Given the description of an element on the screen output the (x, y) to click on. 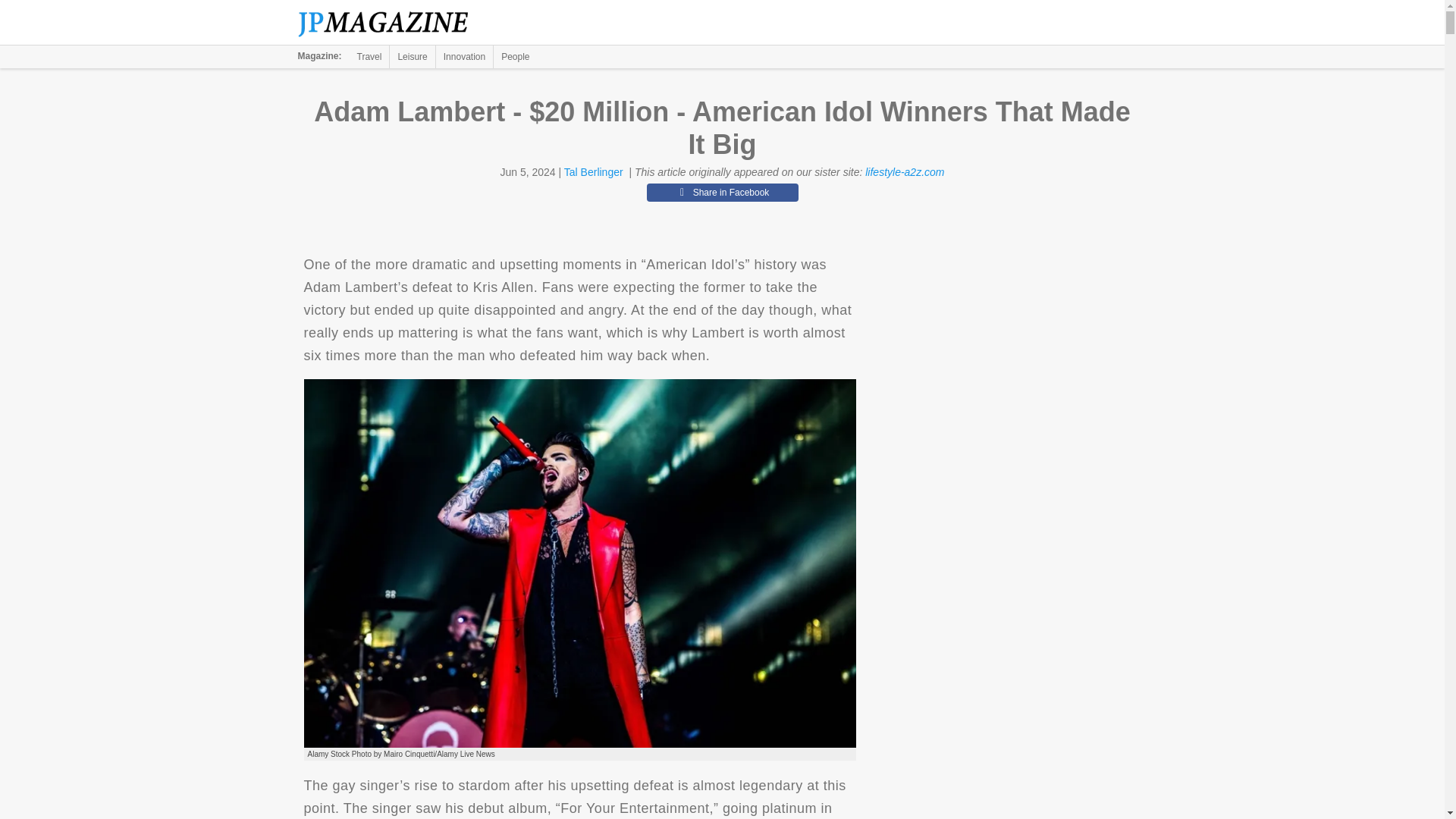
lifestyle-a2z.com (903, 172)
The Jerusalem Post Magazine (391, 22)
Tal Berlinger (593, 172)
Share in Facebook (721, 192)
Innovation (464, 56)
People (515, 56)
Leisure (411, 56)
Travel (369, 56)
